Given the description of an element on the screen output the (x, y) to click on. 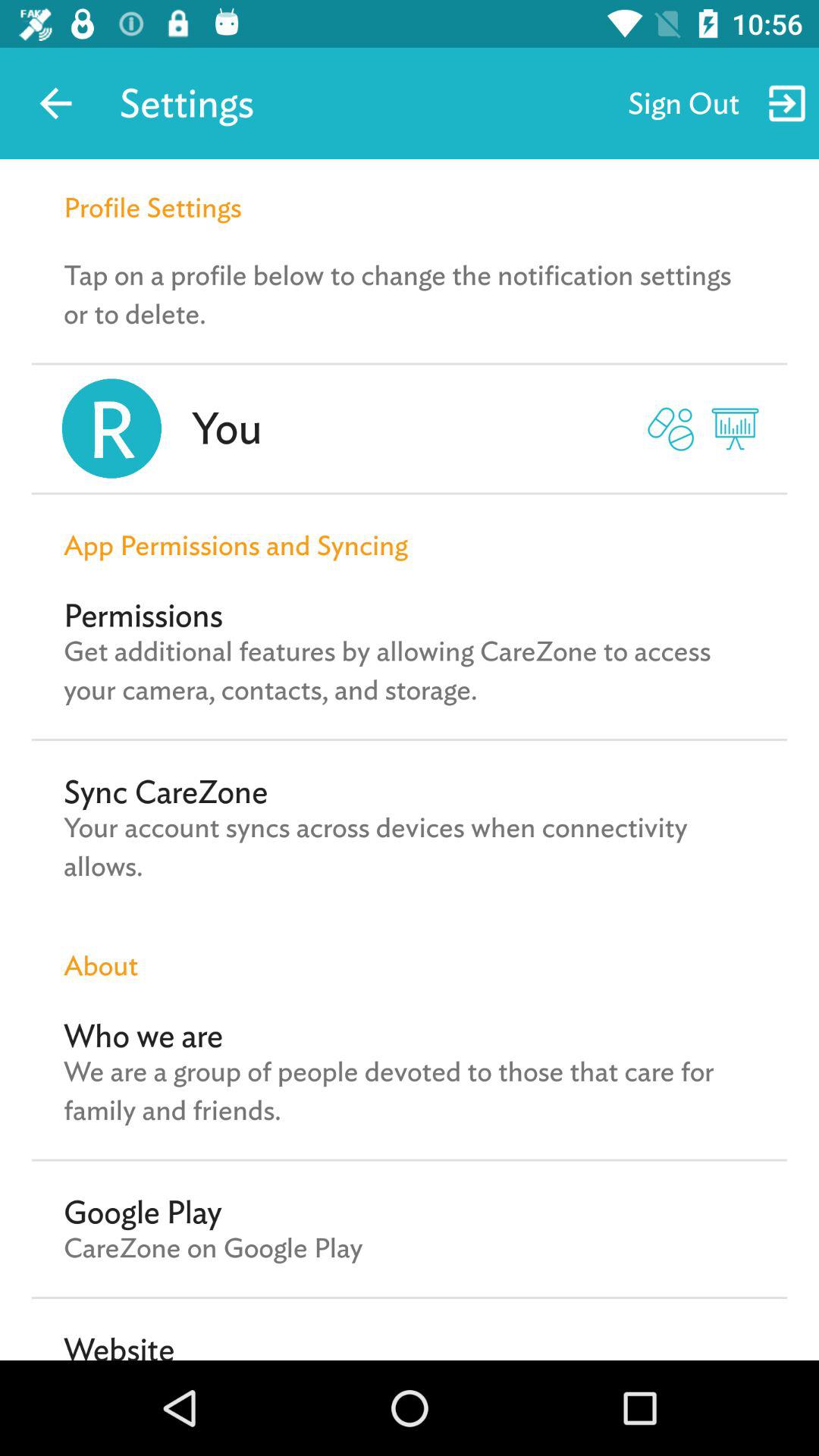
turn off the item above the website item (212, 1247)
